Given the description of an element on the screen output the (x, y) to click on. 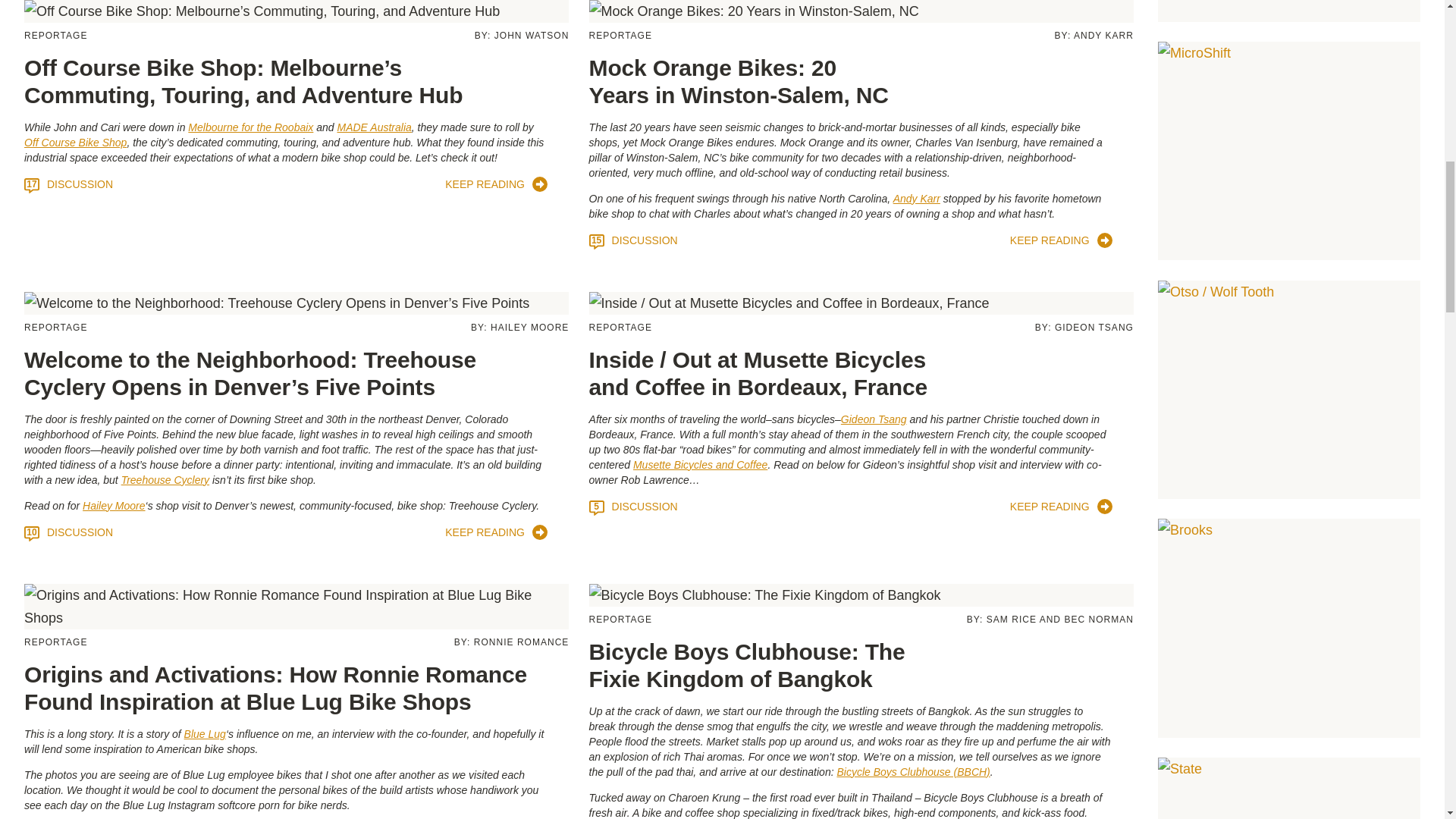
Paul Components (1289, 10)
MicroShift (1289, 150)
Brooks (1289, 627)
